Given the description of an element on the screen output the (x, y) to click on. 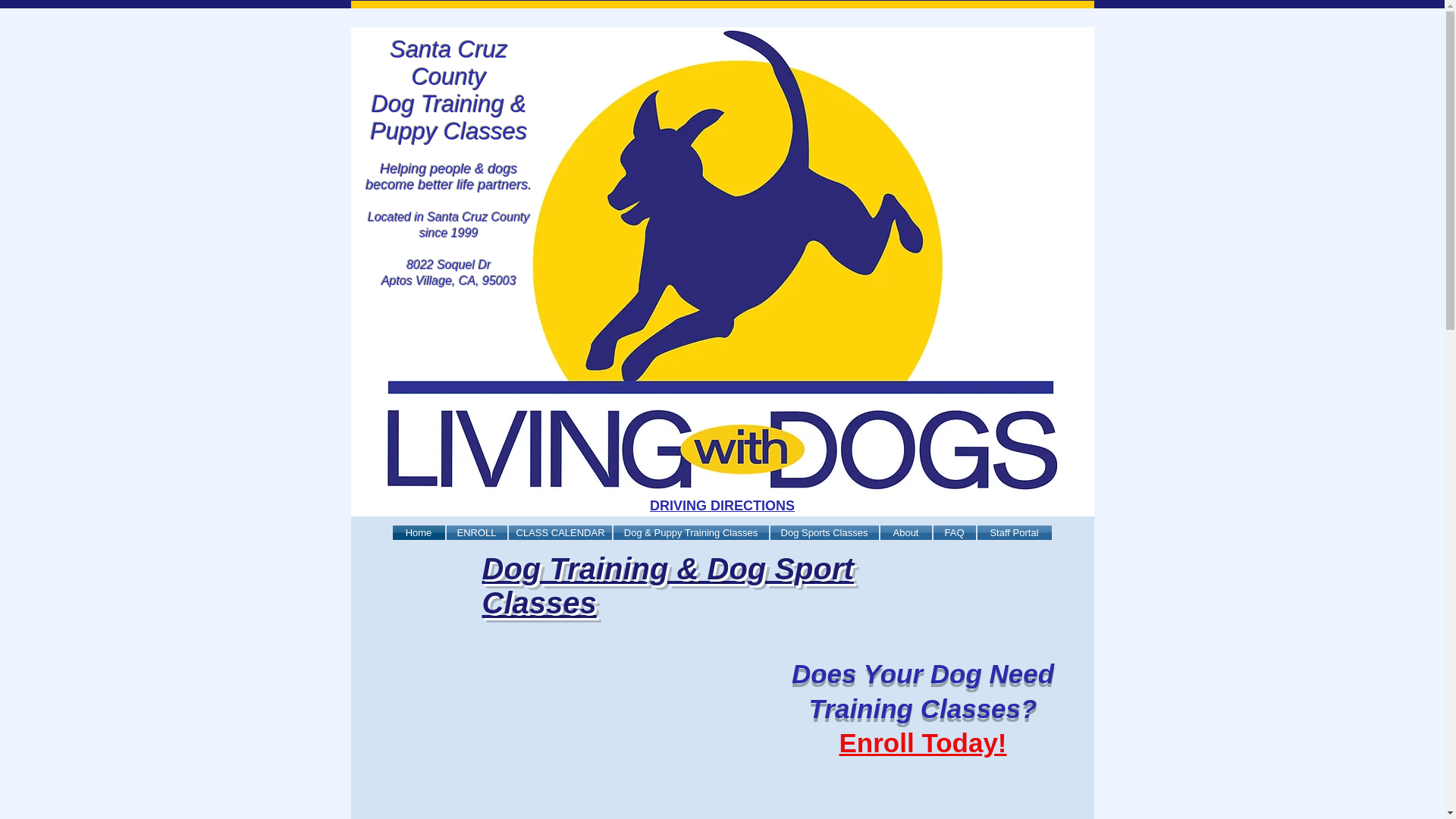
DRIVING DIRECTIONS (721, 505)
Does Your Dog Need Training Classes? (923, 691)
FAQ (954, 532)
Enroll Today! (922, 742)
Staff Portal (1013, 532)
About (906, 532)
CLASS CALENDAR (560, 532)
Home (419, 532)
Dog Sports Classes (823, 532)
ENROLL (476, 532)
